Given the description of an element on the screen output the (x, y) to click on. 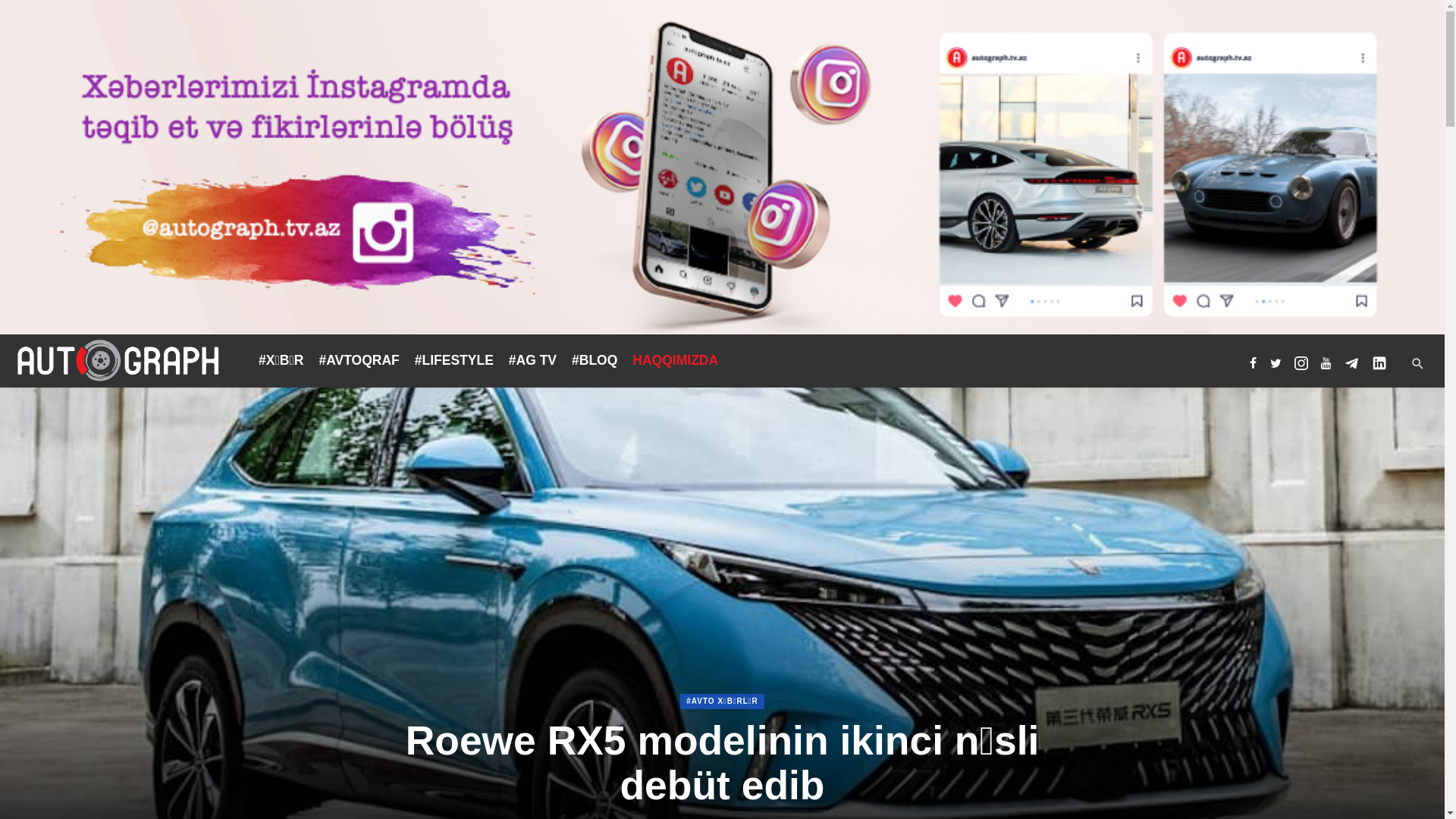
#LIFESTYLE Element type: text (454, 359)
HAQQIMIZDA Element type: text (674, 359)
#BLOQ Element type: text (594, 359)
#AG TV Element type: text (532, 359)
#AVTOQRAF Element type: text (358, 359)
